Given the description of an element on the screen output the (x, y) to click on. 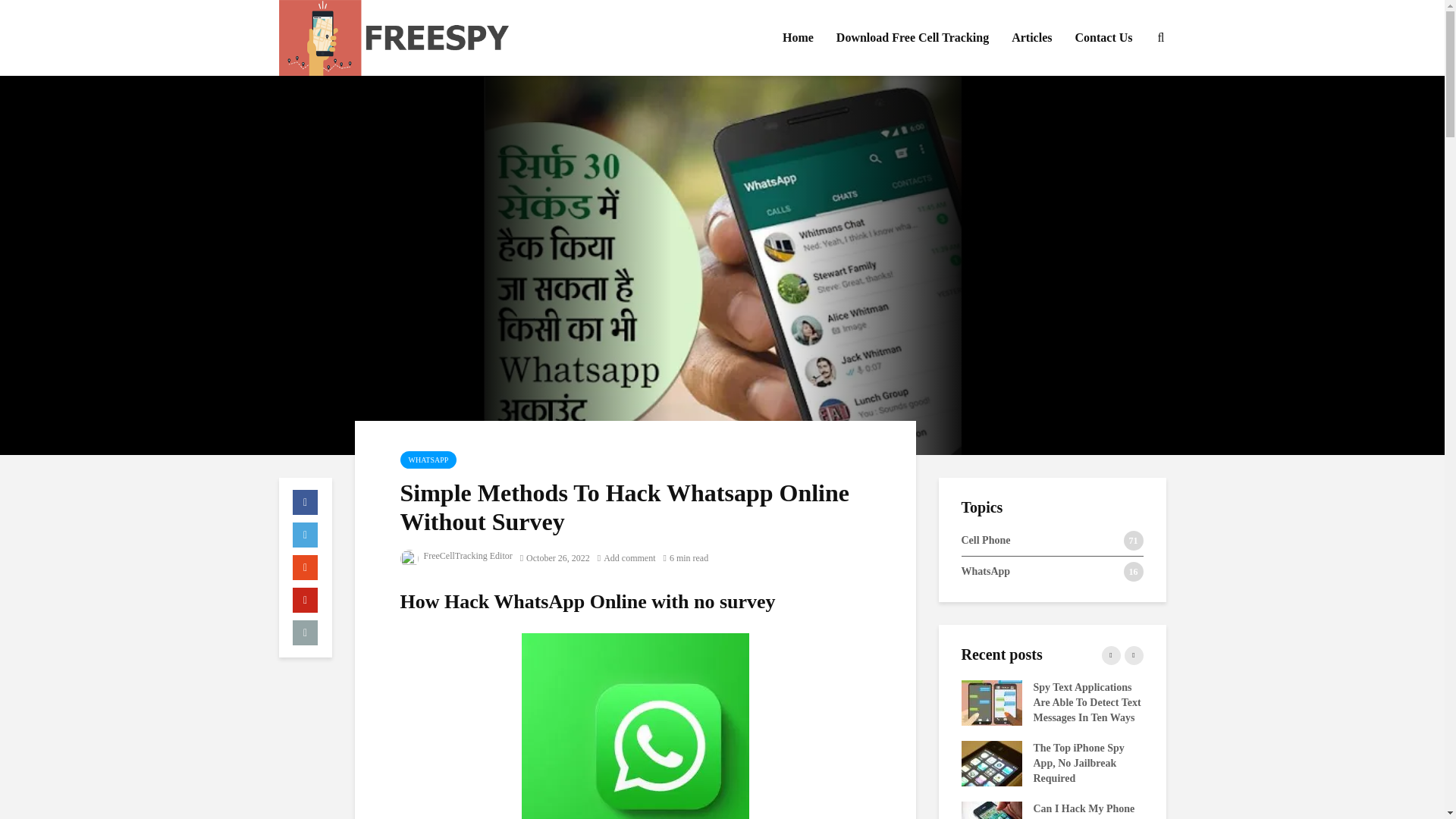
2 Ways to Spy on Facebook Messages without the Phone (809, 701)
Download Free Cell Tracking (912, 37)
Five Ways To Freely Online Monitor Text Messages (809, 818)
WHATSAPP (428, 459)
Add comment (626, 557)
Home (798, 37)
How to Choose the Best Snapchat Hacker App (809, 762)
Can I Hack My Phone By Calling Me? (991, 818)
Articles (1031, 37)
How To Track My Husbands Text Sms For Free (1173, 777)
